Given the description of an element on the screen output the (x, y) to click on. 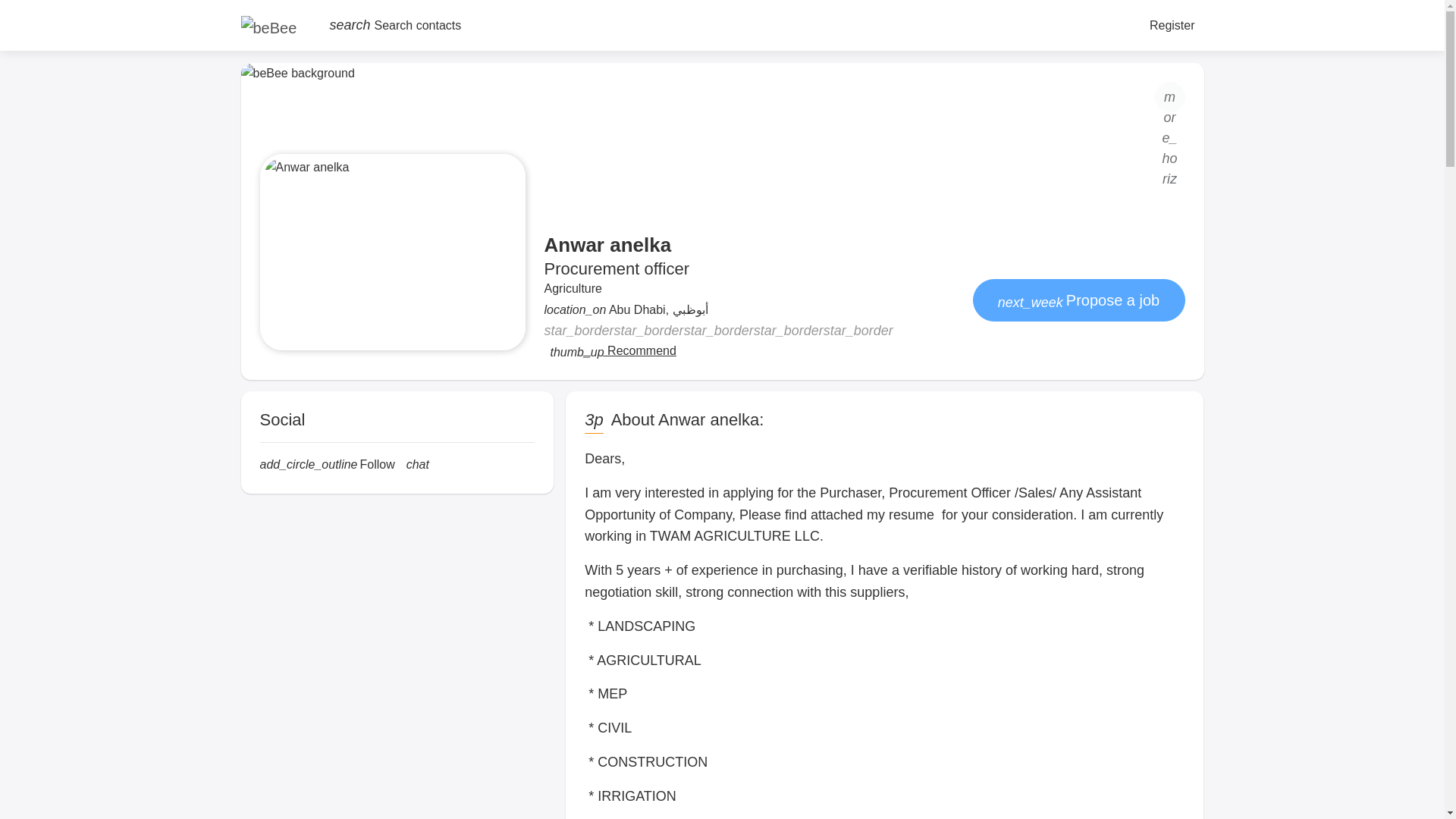
Propose a job (1078, 300)
Recommend (613, 351)
Search contacts (395, 25)
Follow (326, 465)
Professionals (286, 88)
Register (1172, 24)
